Given the description of an element on the screen output the (x, y) to click on. 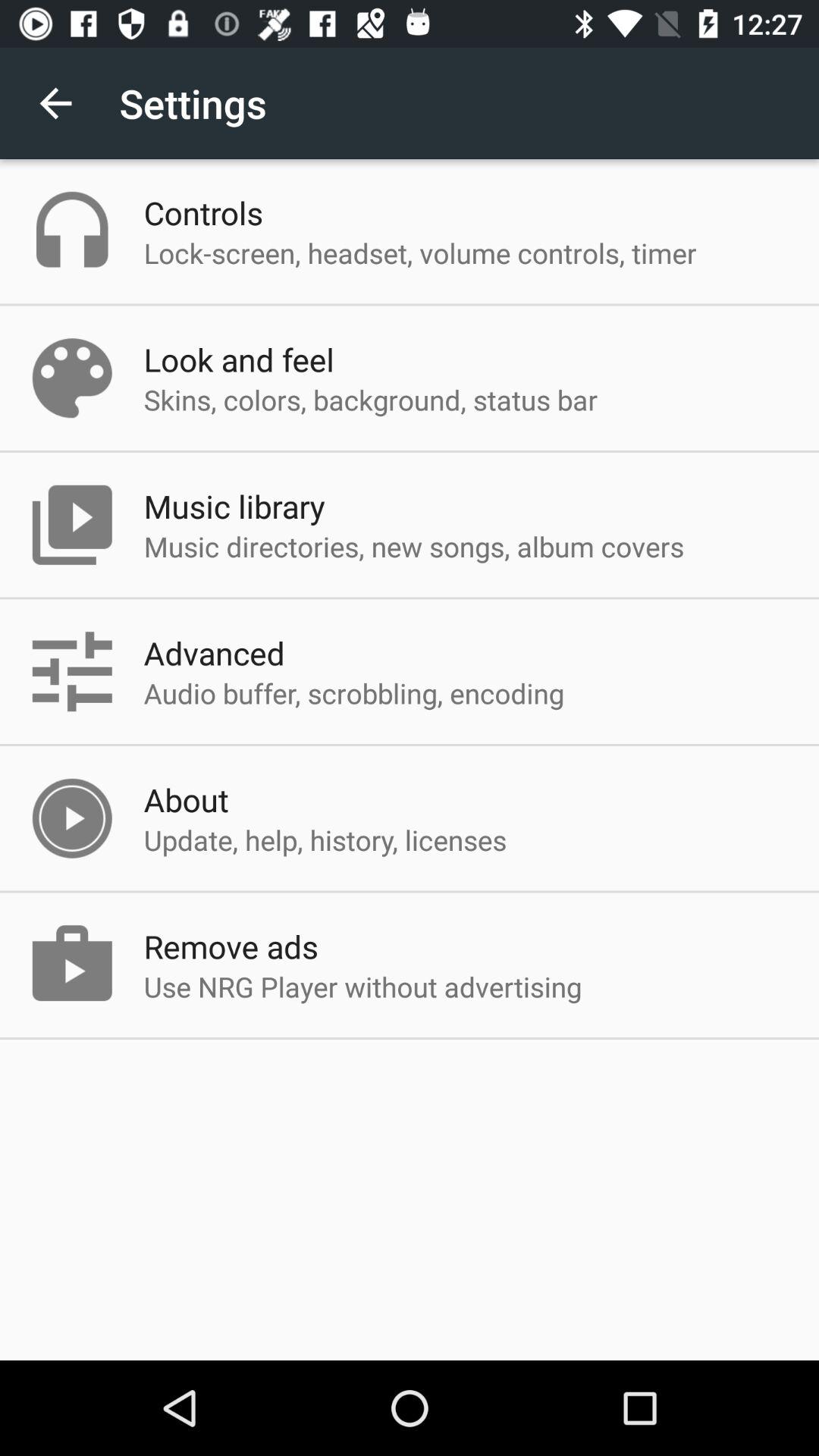
swipe until the music directories new app (413, 546)
